Given the description of an element on the screen output the (x, y) to click on. 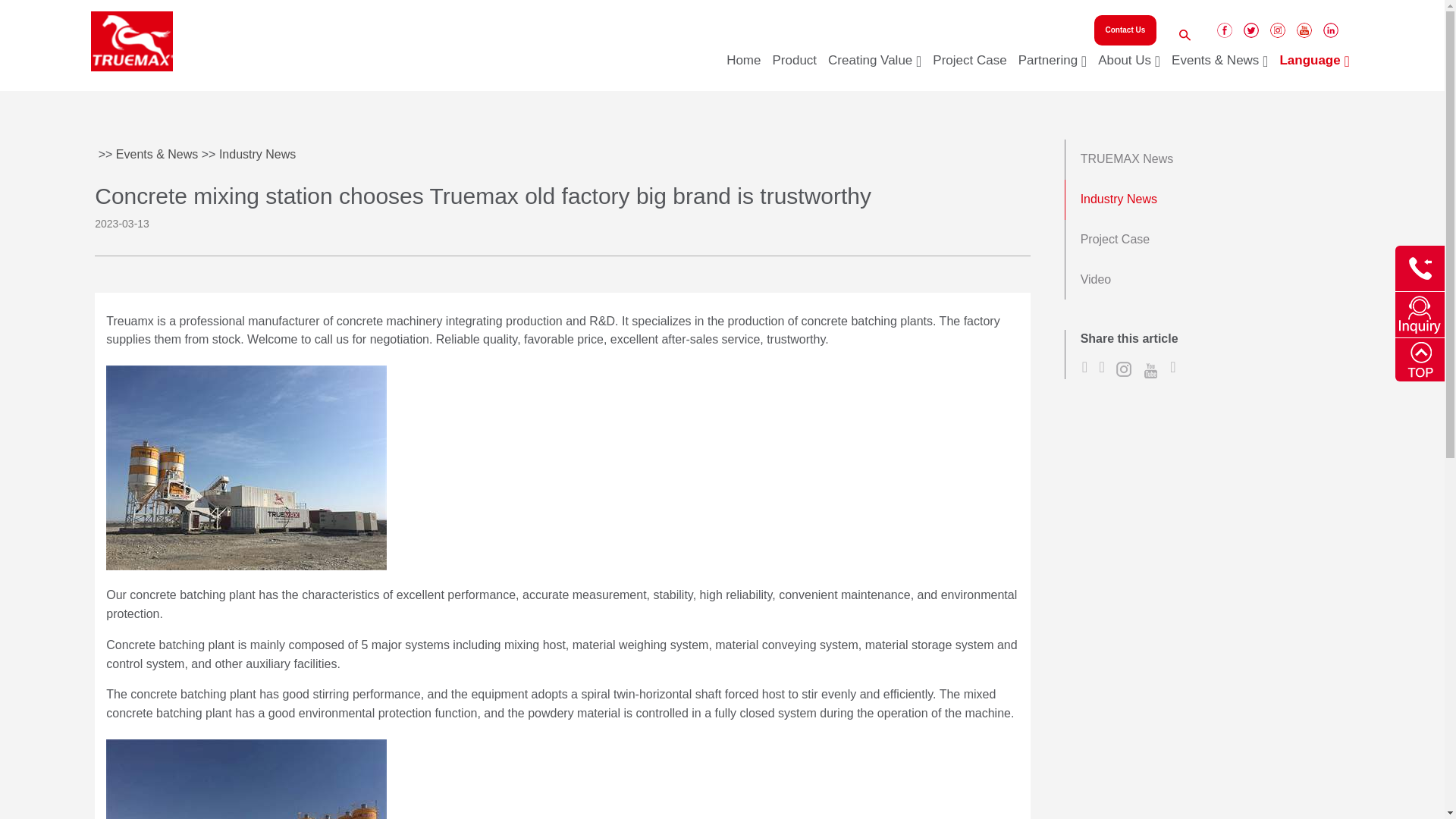
Product (792, 68)
Product (792, 68)
About Us (1126, 68)
Project Case (967, 68)
Creating Value (872, 68)
Partnering (1050, 68)
Project Case (967, 68)
